Given the description of an element on the screen output the (x, y) to click on. 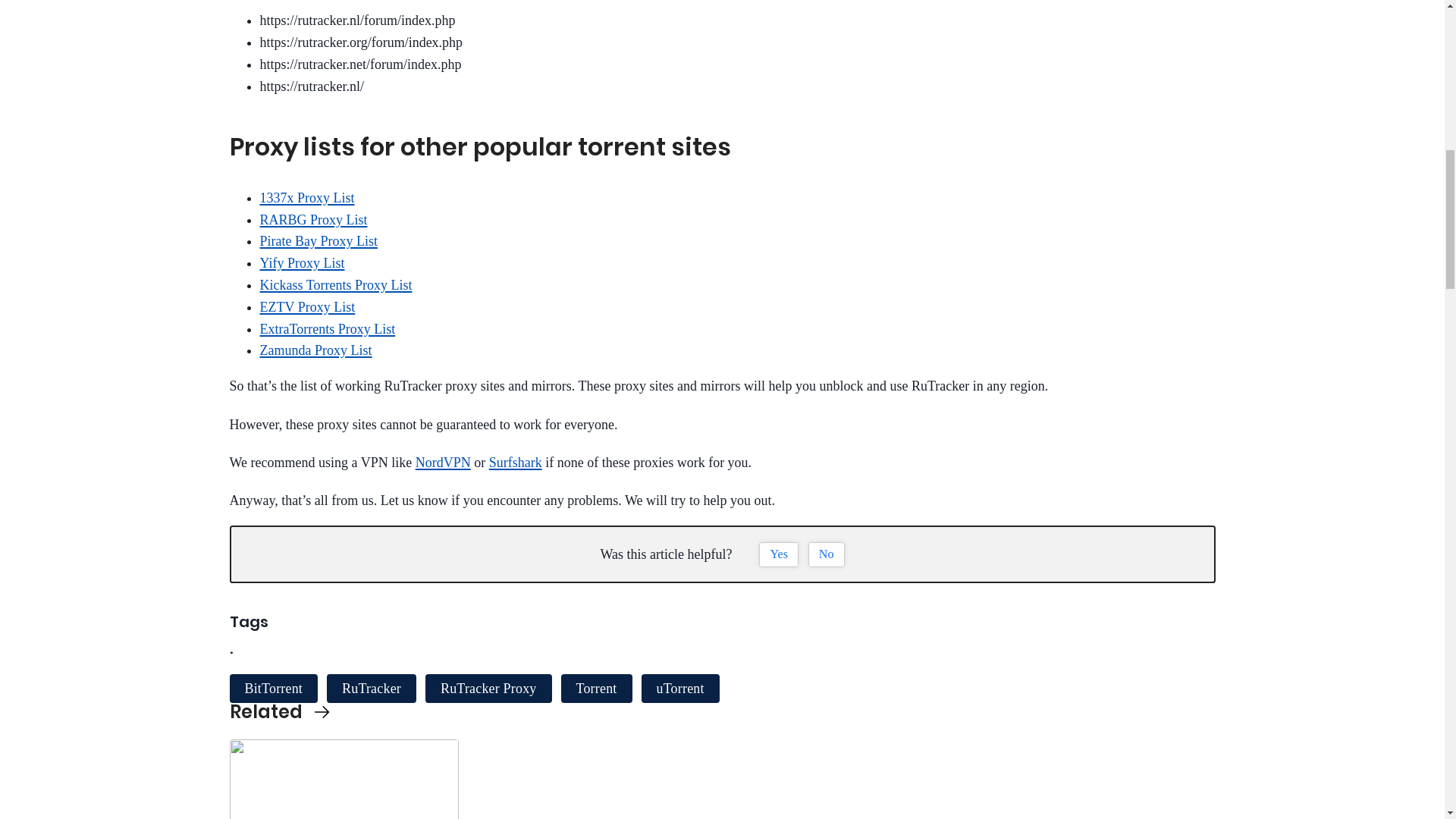
EZTV Proxy List (307, 306)
RuTracker (371, 688)
ExtraTorrents Proxy List (326, 328)
1337x Proxy List (306, 197)
RuTracker Proxy (488, 688)
RARBG Proxy List (312, 219)
uTorrent (680, 688)
Torrent (595, 688)
Pirate Bay Proxy List (318, 240)
Kickass Torrents Proxy List (335, 284)
